Given the description of an element on the screen output the (x, y) to click on. 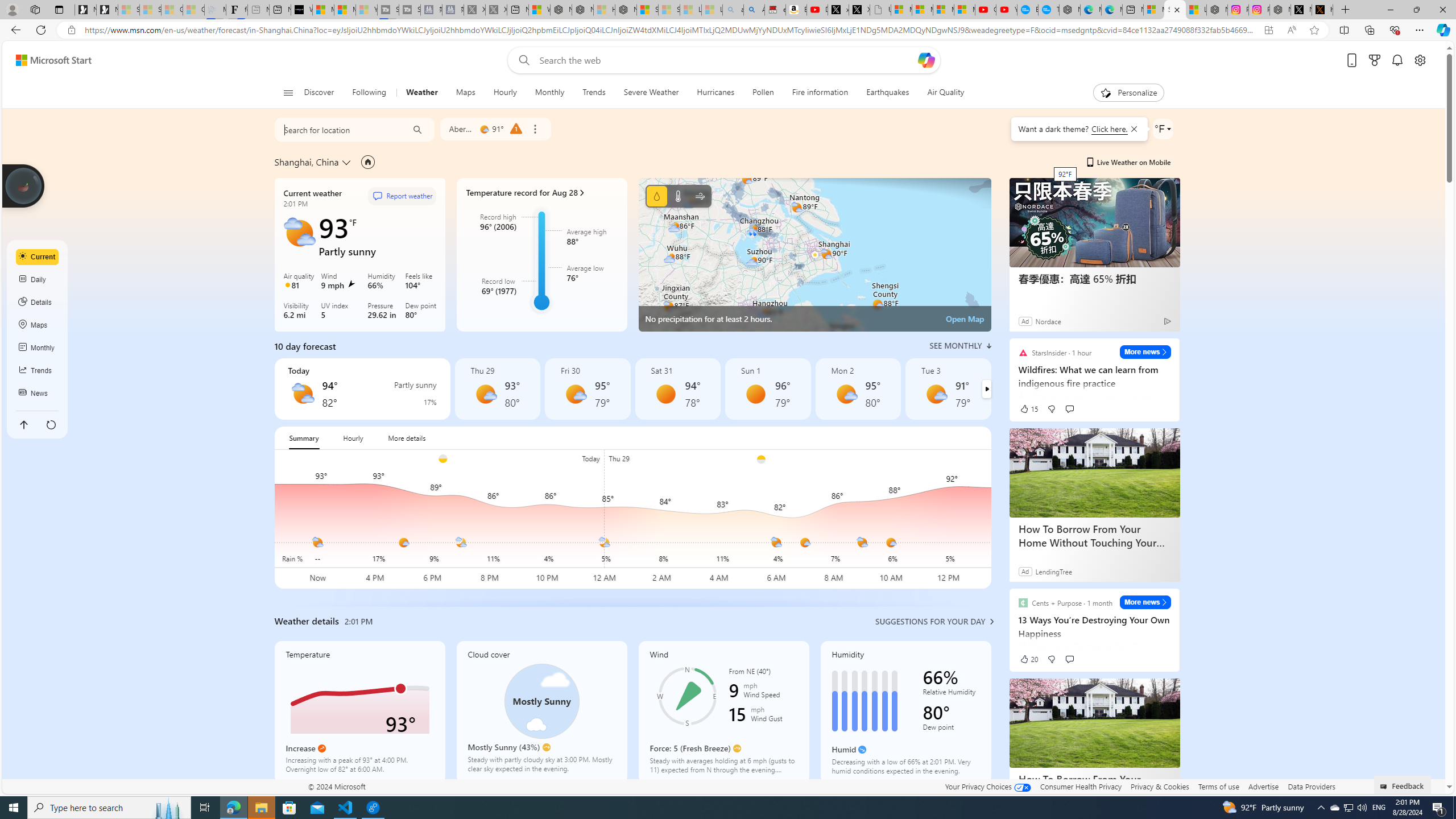
Nordace - Nordace Siena Is Not An Ordinary Backpack (626, 9)
Privacy & Cookies (1160, 785)
Hurricanes (716, 92)
Summary (303, 437)
Monthly (549, 92)
Consumer Health Privacy (1080, 786)
Temperature (678, 195)
Current (37, 256)
Class: cloudCoverSvg-DS-ps0R9q (541, 700)
Switch right (986, 389)
Severe Weather (650, 92)
Increase (321, 748)
Refresh this page (50, 424)
